Given the description of an element on the screen output the (x, y) to click on. 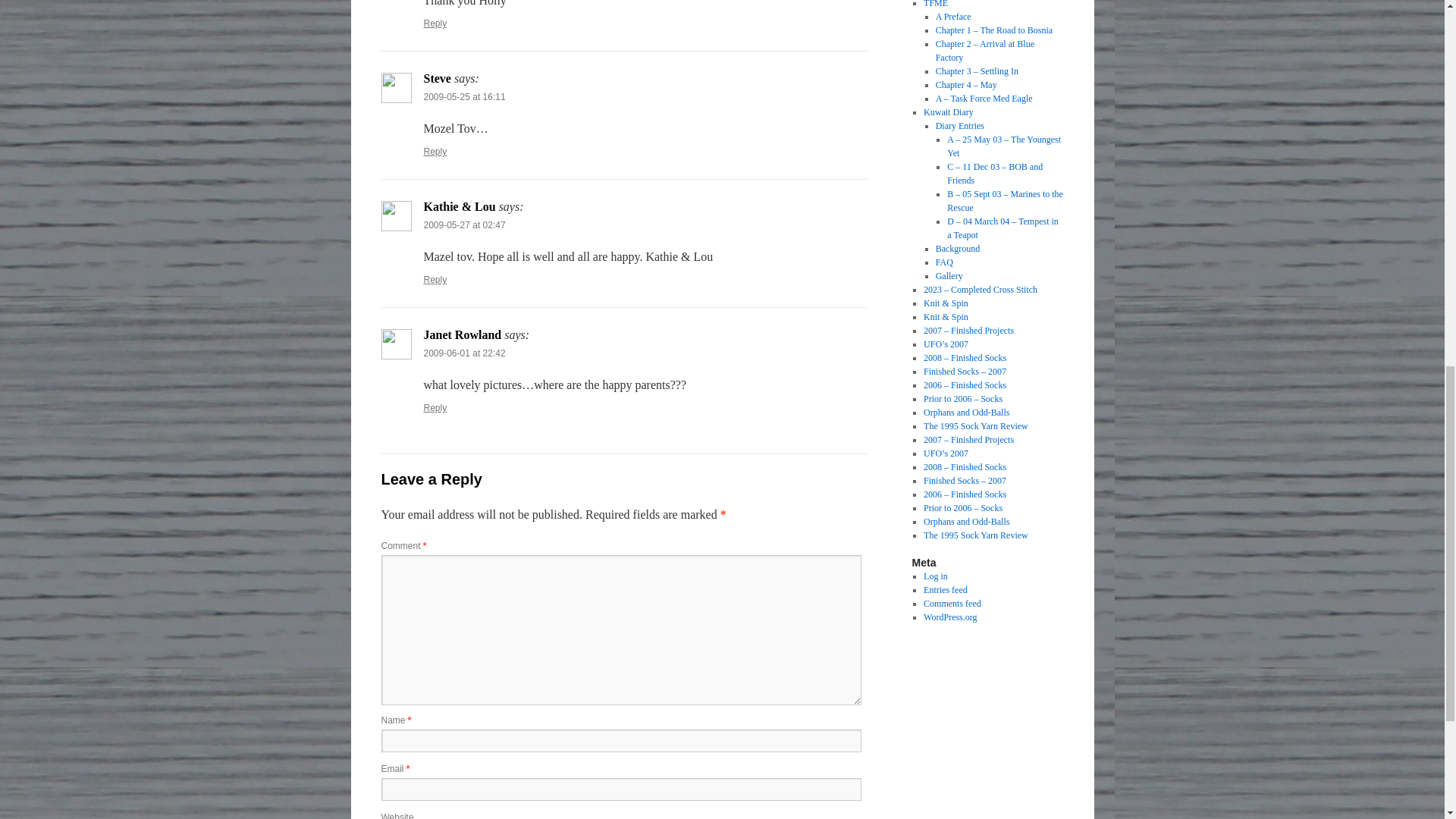
Reply (434, 279)
2009-05-27 at 02:47 (464, 225)
Reply (434, 407)
Reply (434, 23)
2009-06-01 at 22:42 (464, 353)
2009-05-25 at 16:11 (464, 96)
Reply (434, 151)
